Given the description of an element on the screen output the (x, y) to click on. 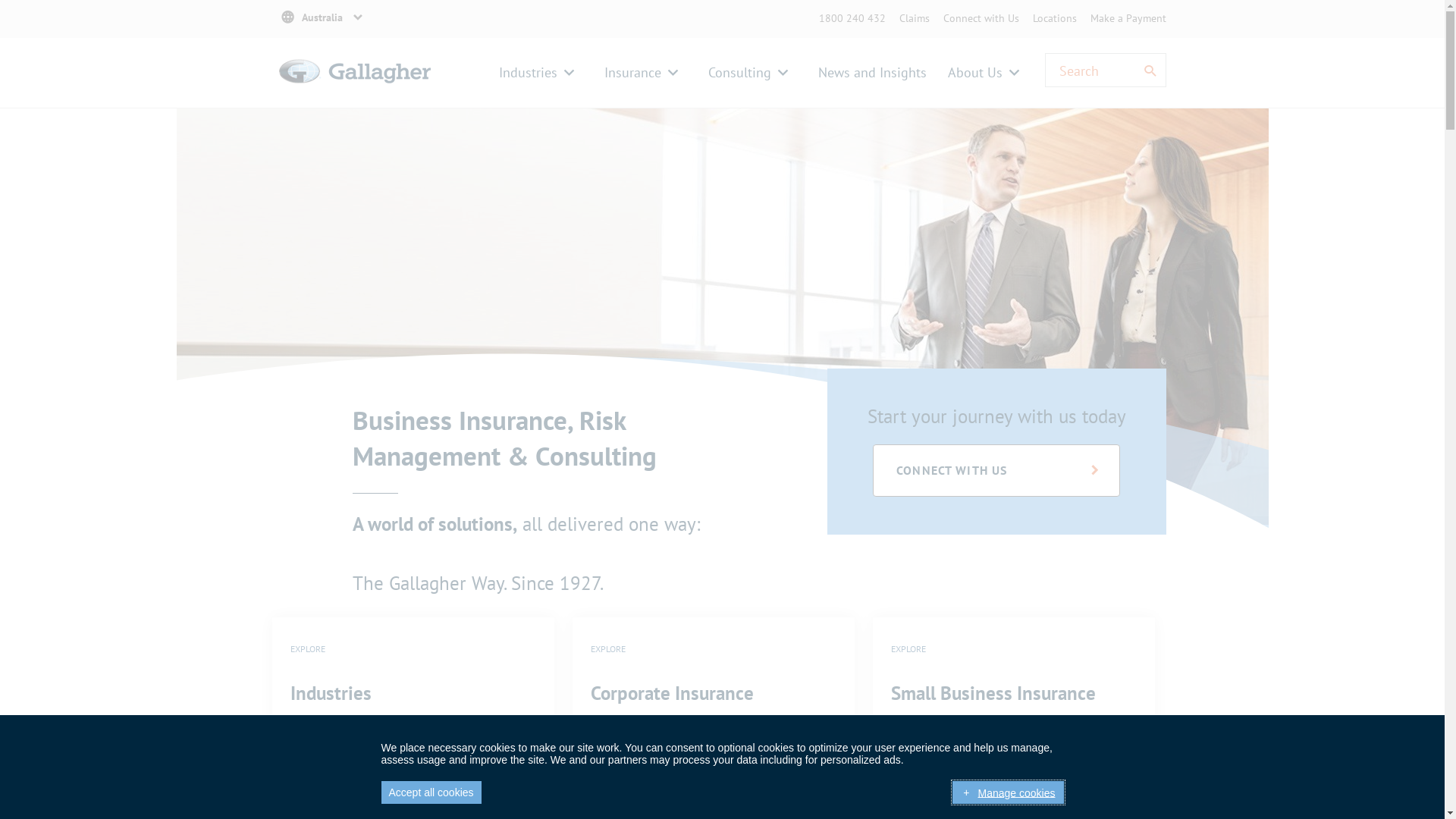
Manage cookies Element type: text (1007, 792)
Make a Payment Element type: text (1128, 18)
Accept all cookies Element type: text (430, 792)
Gallagher Australia Element type: hover (354, 89)
Connect with Us Element type: text (981, 18)
News and Insights Element type: text (871, 73)
Claims Element type: text (914, 18)
1800 240 432 Element type: text (852, 18)
Locations Element type: text (1054, 18)
CONNECT WITH US Element type: text (996, 470)
